Given the description of an element on the screen output the (x, y) to click on. 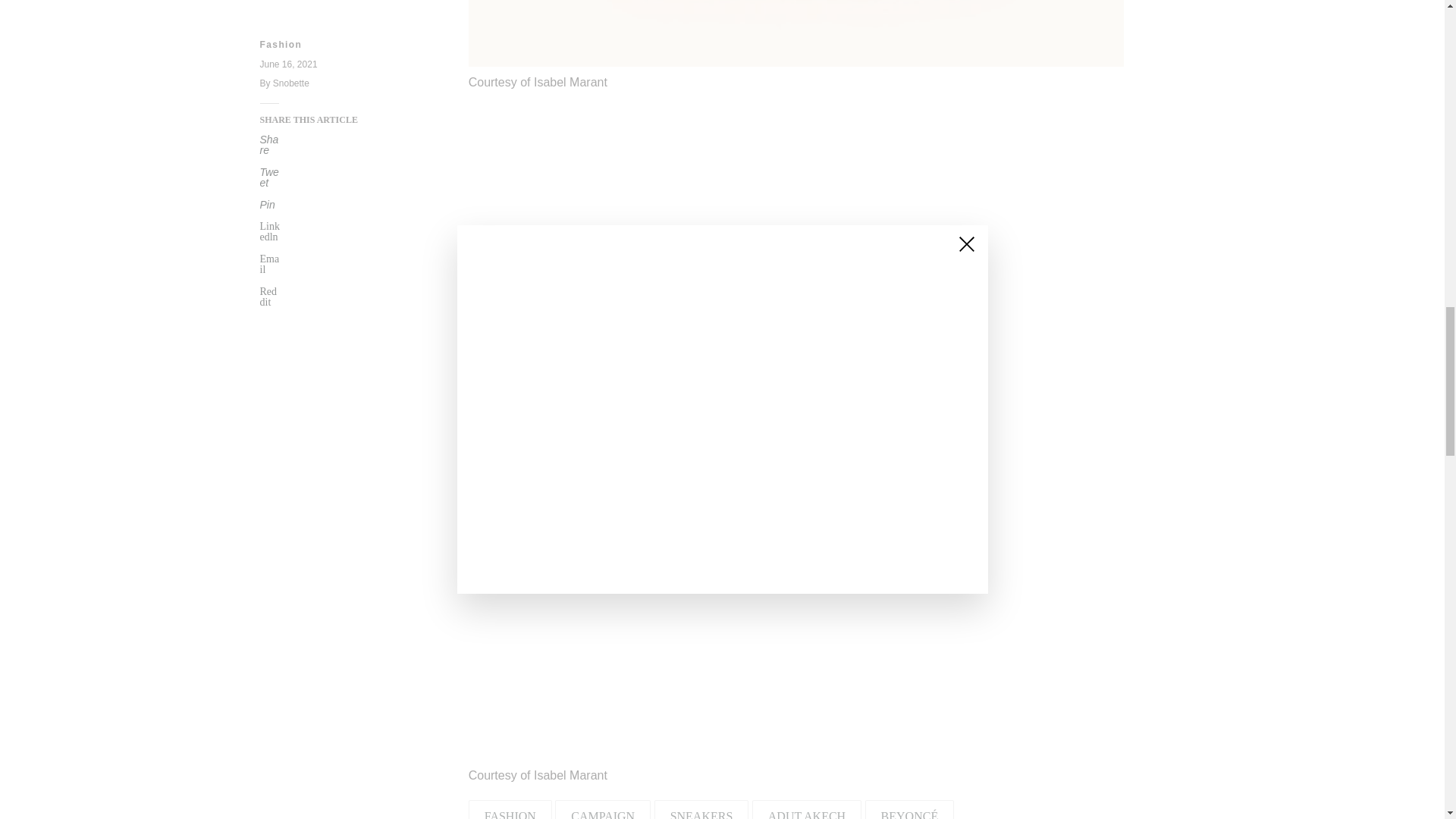
SNEAKERS (701, 809)
ADUT AKECH (806, 809)
FASHION (509, 809)
CAMPAIGN (602, 809)
